Given the description of an element on the screen output the (x, y) to click on. 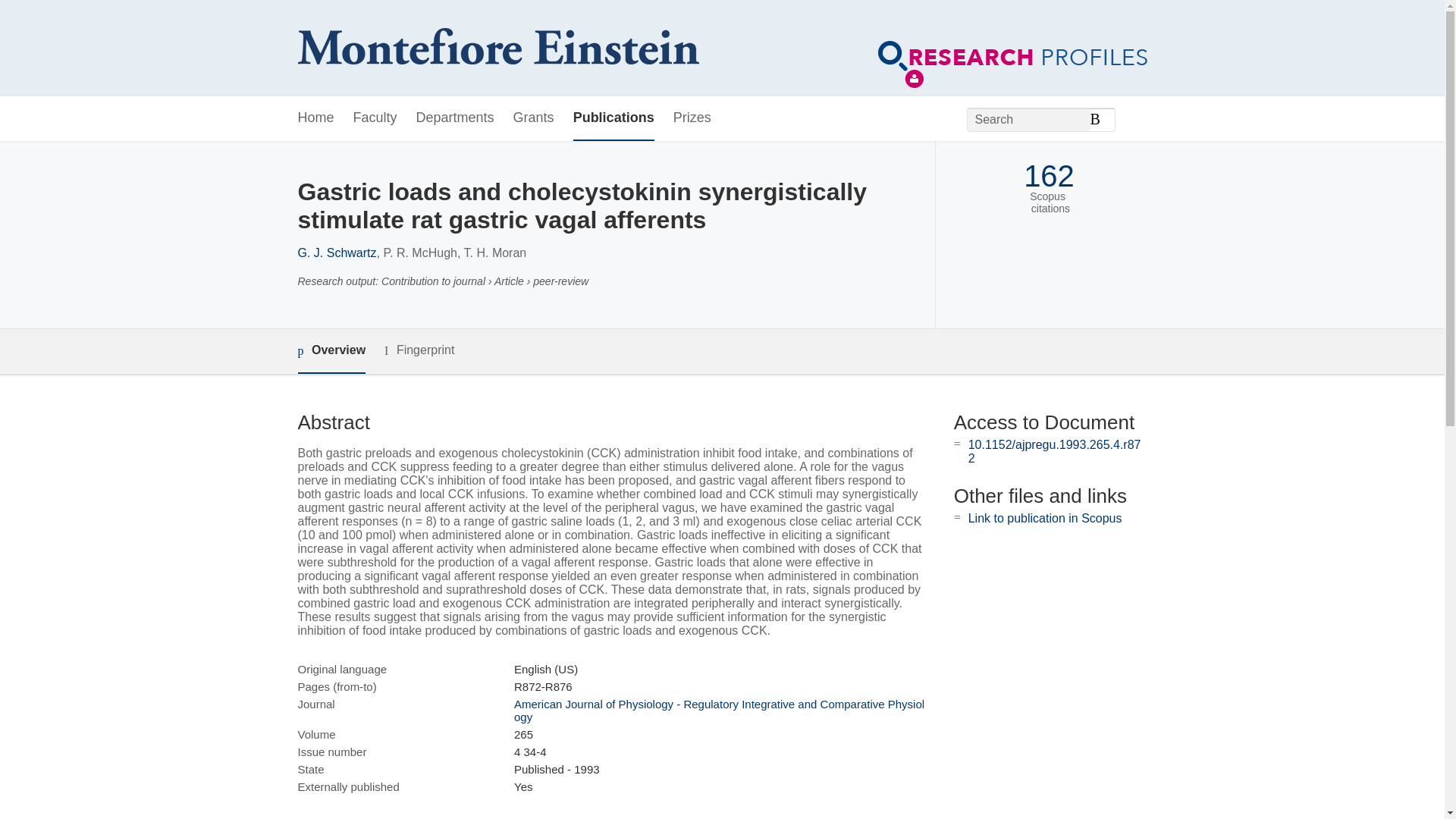
Faculty (375, 118)
162 (1048, 175)
Fingerprint (419, 350)
Publications (613, 118)
Albert Einstein College of Medicine Home (497, 48)
Grants (533, 118)
Link to publication in Scopus (1045, 517)
Overview (331, 351)
Departments (455, 118)
